Given the description of an element on the screen output the (x, y) to click on. 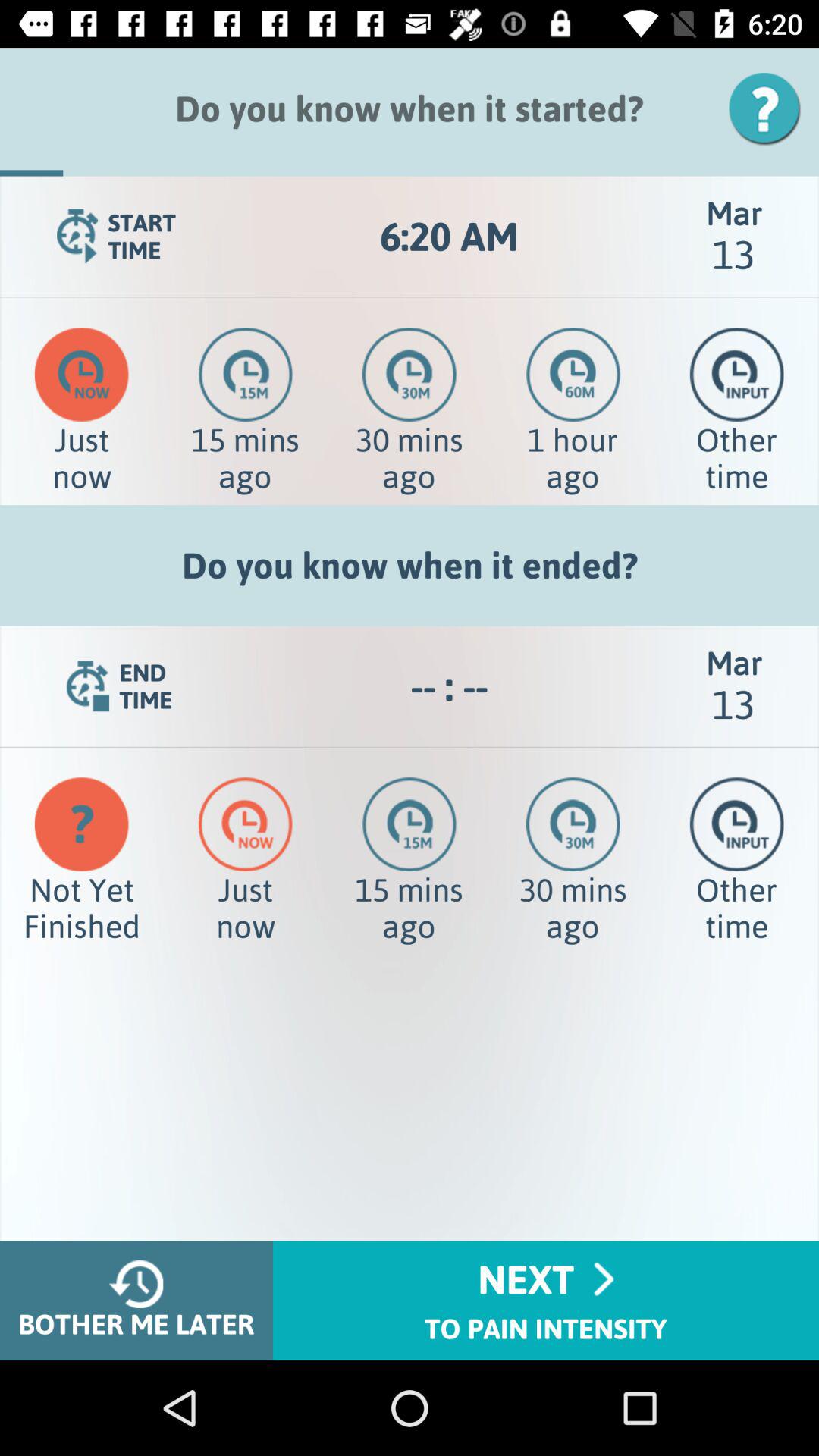
flip until -- : -- app (448, 686)
